Given the description of an element on the screen output the (x, y) to click on. 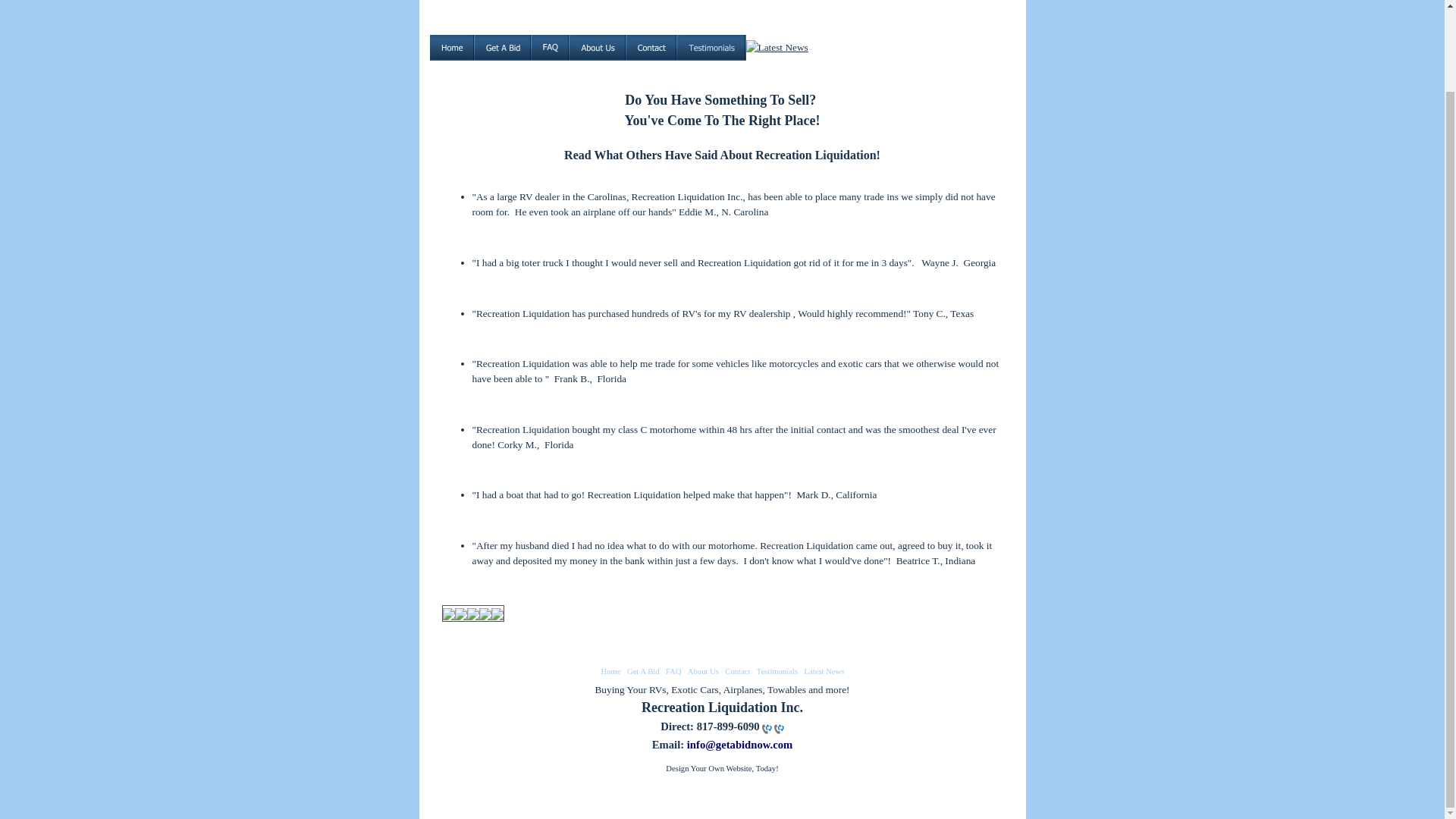
Get A Bid (643, 671)
Call: 817-899-6090 (765, 727)
Call: 239-595-5969 (777, 728)
Testimonials (777, 671)
Contact (737, 671)
Latest News (823, 671)
About Us (702, 671)
Call: 239-595-5969 (777, 727)
Home (611, 671)
FAQ (672, 671)
Call: 817-899-6090 (765, 728)
